Given the description of an element on the screen output the (x, y) to click on. 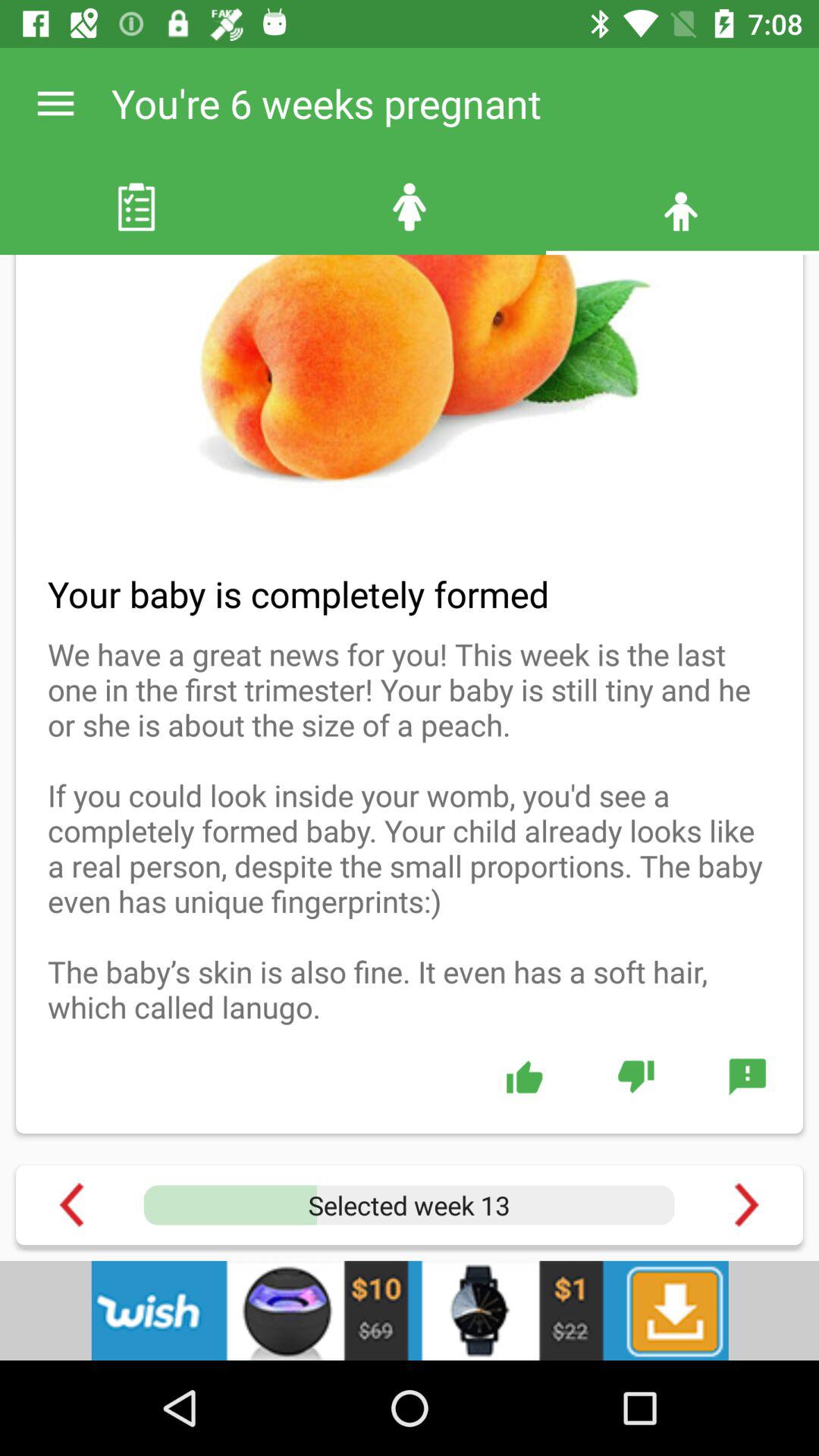
go to previous (71, 1204)
